Given the description of an element on the screen output the (x, y) to click on. 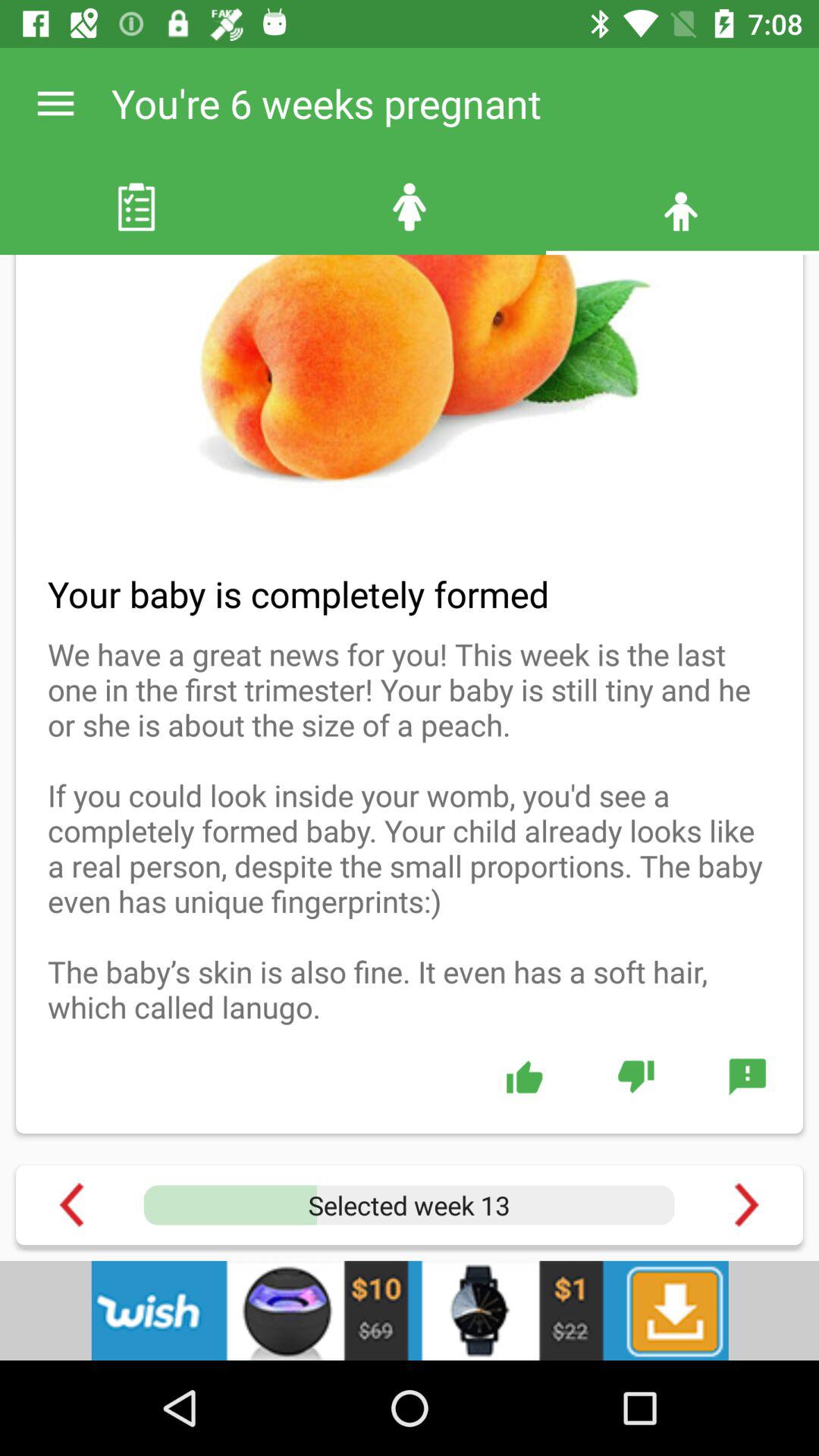
go to previous (71, 1204)
